Given the description of an element on the screen output the (x, y) to click on. 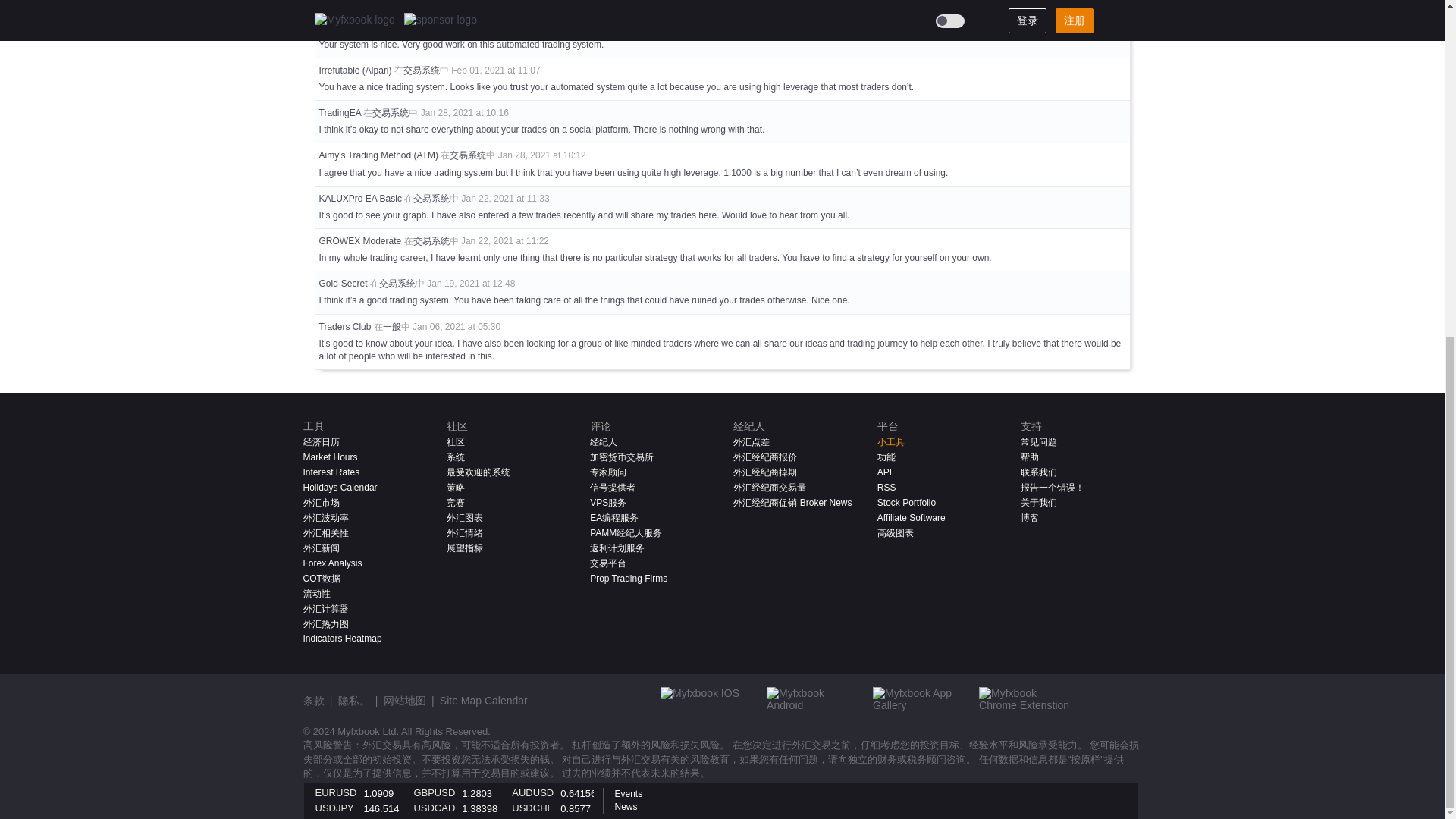
Myfxbook IOS (706, 702)
Myfxbook Chrome Extenstion (1024, 702)
Myfxbook App Gallery (917, 702)
Myfxbook Android (812, 702)
